Given the description of an element on the screen output the (x, y) to click on. 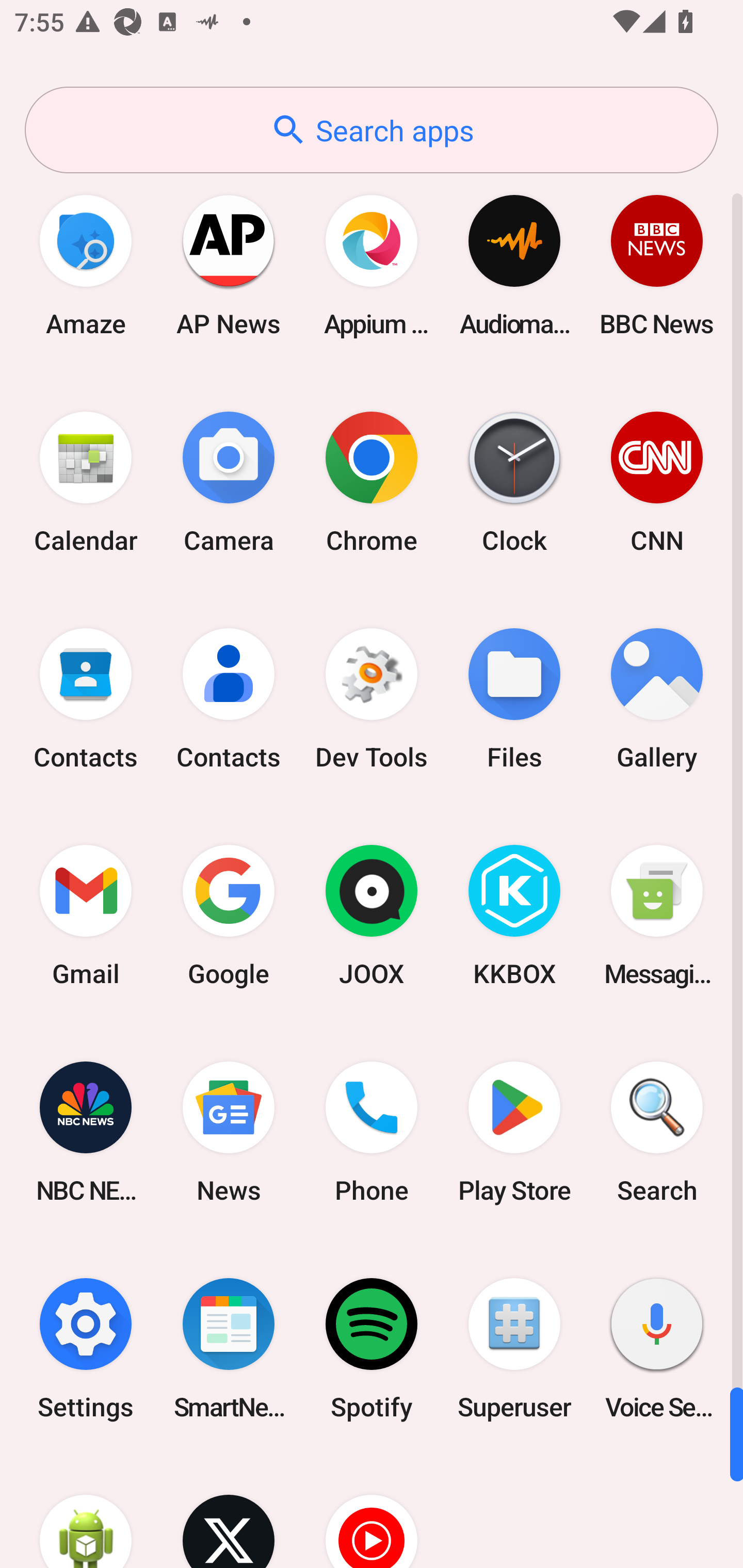
  Search apps (371, 130)
Amaze (85, 264)
AP News (228, 264)
Appium Settings (371, 264)
Audio­mack (514, 264)
BBC News (656, 264)
Calendar (85, 482)
Camera (228, 482)
Chrome (371, 482)
Clock (514, 482)
CNN (656, 482)
Contacts (85, 699)
Contacts (228, 699)
Dev Tools (371, 699)
Files (514, 699)
Gallery (656, 699)
Gmail (85, 915)
Google (228, 915)
JOOX (371, 915)
KKBOX (514, 915)
Messaging (656, 915)
NBC NEWS (85, 1131)
News (228, 1131)
Phone (371, 1131)
Play Store (514, 1131)
Search (656, 1131)
Settings (85, 1348)
SmartNews (228, 1348)
Spotify (371, 1348)
Superuser (514, 1348)
Voice Search (656, 1348)
